Given the description of an element on the screen output the (x, y) to click on. 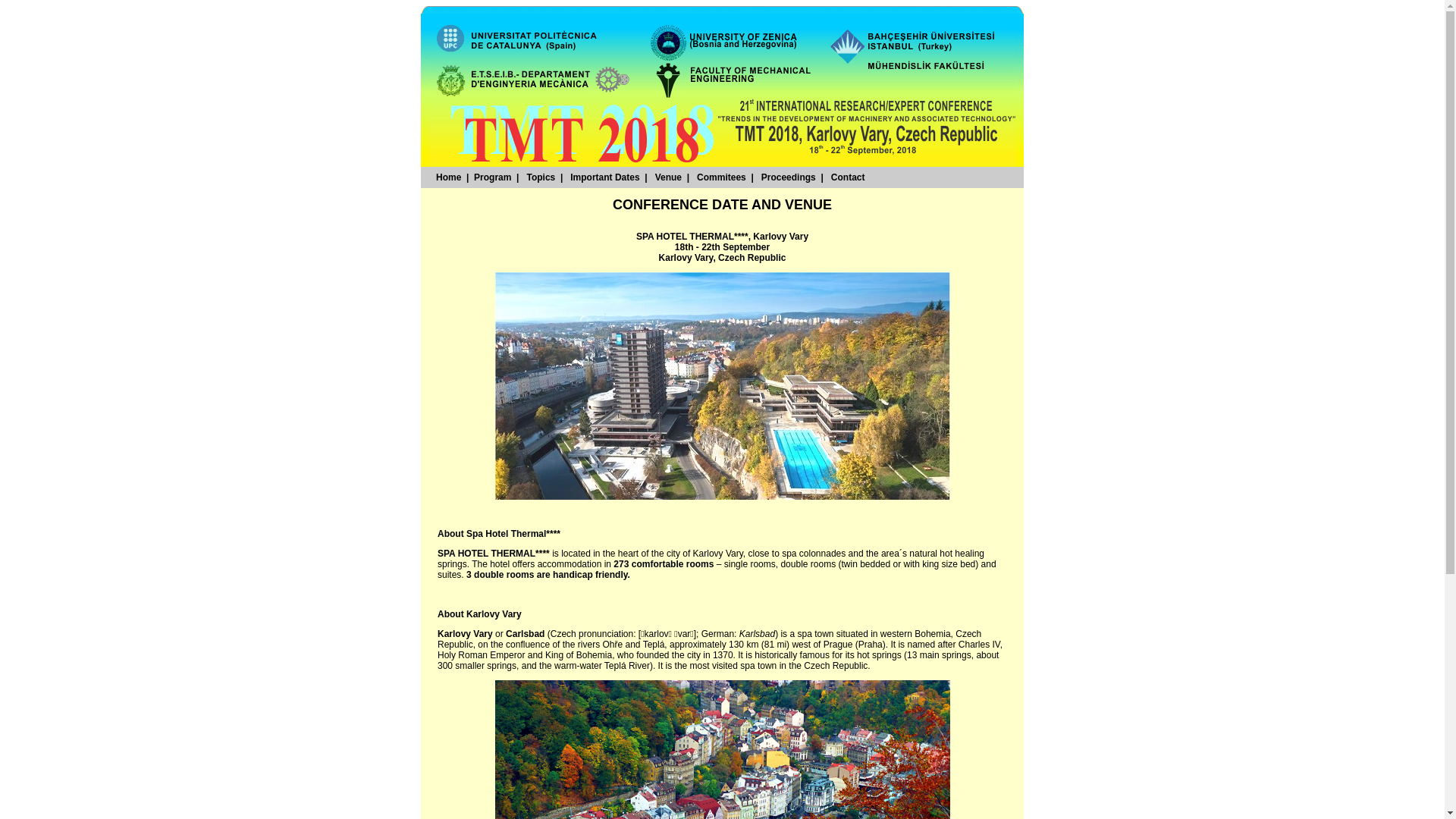
Commitees Element type: text (721, 177)
German Element type: text (717, 633)
hot springs Element type: text (878, 654)
King of Bohemia Element type: text (578, 654)
Czech Republic Element type: text (709, 638)
Proceedings Element type: text (788, 177)
Home Element type: text (448, 177)
Venue Element type: text (668, 177)
Important Dates Element type: text (604, 177)
Prague Element type: text (838, 644)
Charles IV Element type: text (979, 644)
Contact Element type: text (848, 177)
spa town Element type: text (815, 633)
Topics Element type: text (540, 177)
Bohemia Element type: text (932, 633)
Program Element type: text (492, 177)
Holy Roman Emperor Element type: text (480, 654)
